Given the description of an element on the screen output the (x, y) to click on. 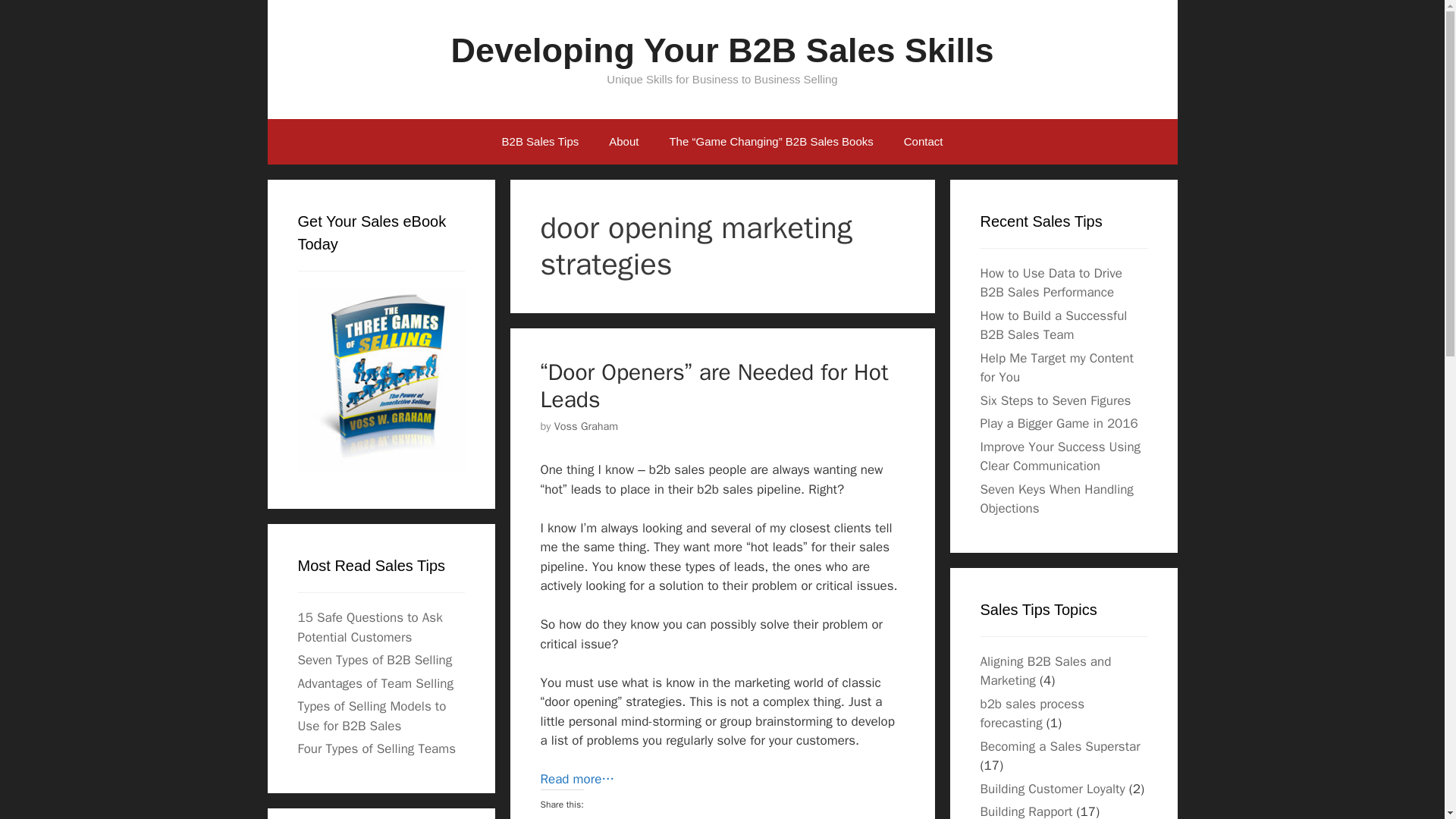
15 Safe Questions to Ask Potential Customers (369, 627)
Types of Selling Models to Use for B2B Sales (371, 715)
View all posts by Voss Graham (586, 426)
Contact (923, 140)
Four Types of Selling Teams (376, 748)
15 Safe Questions to Ask Potential Customers (369, 627)
About (623, 140)
Voss Graham (586, 426)
Advantages of Team Selling (374, 683)
B2B Sales Tips (540, 140)
